Given the description of an element on the screen output the (x, y) to click on. 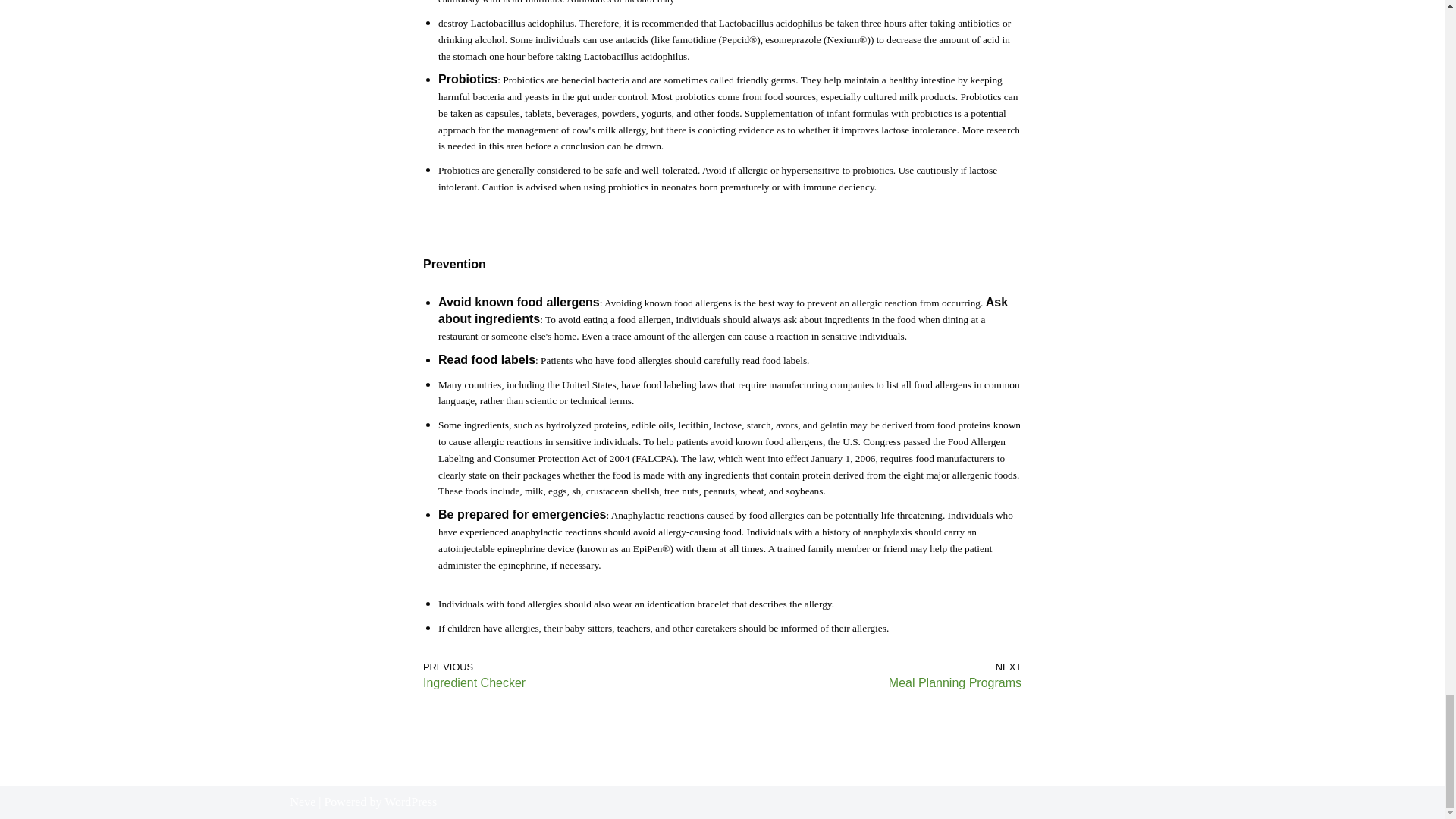
Page 8 (722, 616)
